Given the description of an element on the screen output the (x, y) to click on. 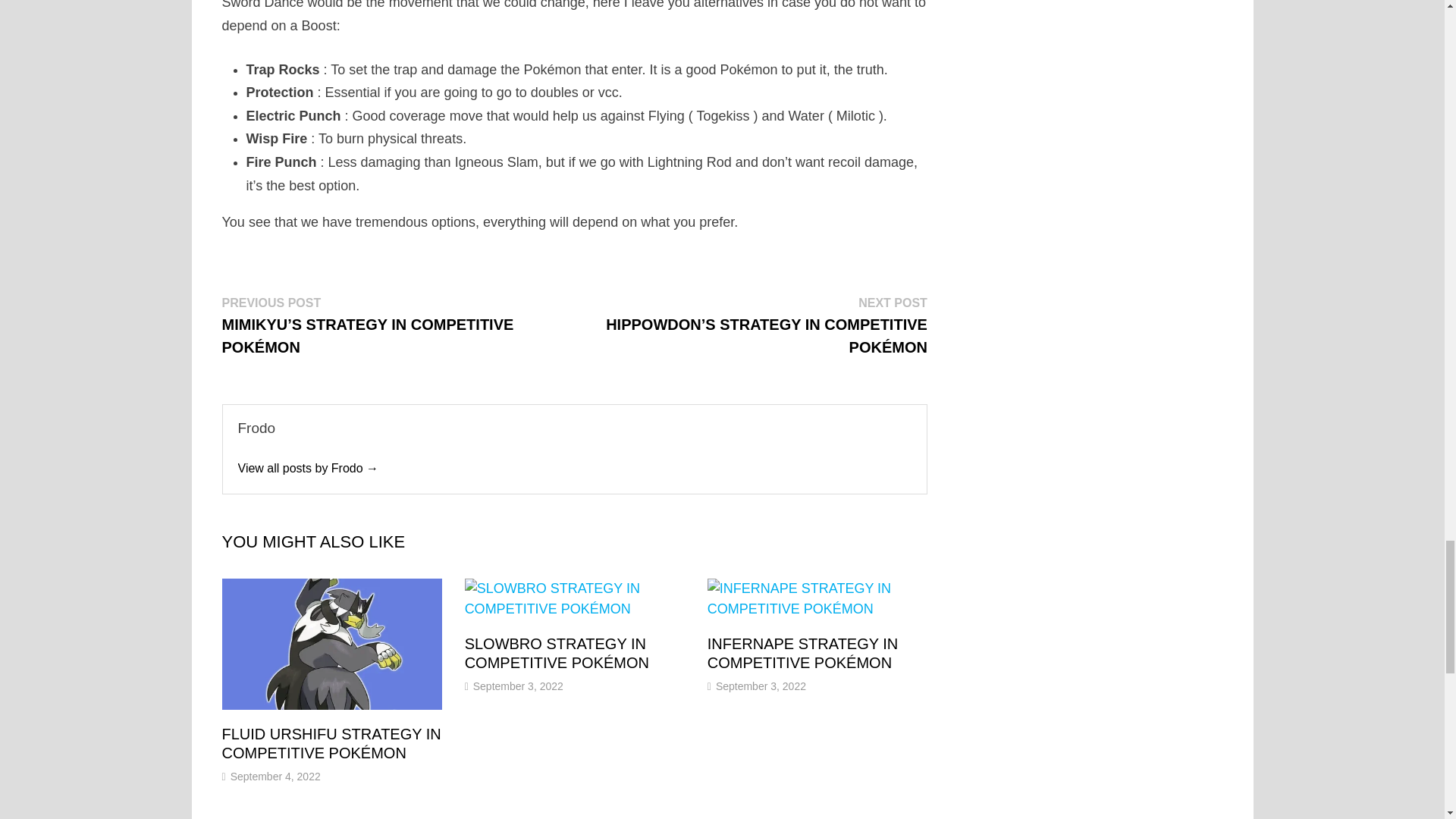
September 3, 2022 (518, 686)
September 4, 2022 (275, 776)
Frodo (308, 468)
September 3, 2022 (761, 686)
